Given the description of an element on the screen output the (x, y) to click on. 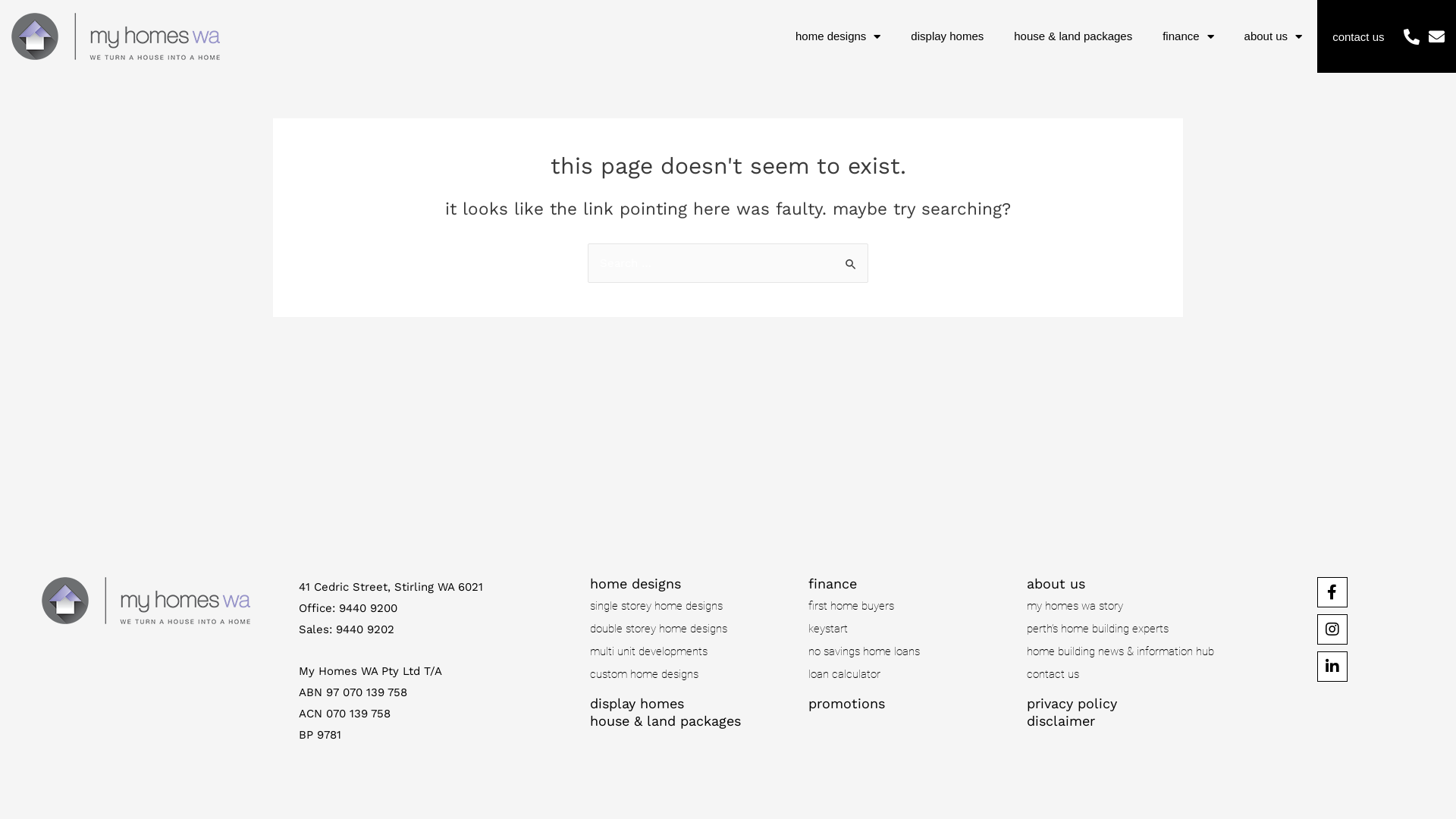
custom home designs Element type: text (691, 673)
loan calculator Element type: text (909, 673)
display homes Element type: text (636, 703)
disclaimer Element type: text (1060, 720)
house & land packages Element type: text (664, 720)
single storey home designs Element type: text (691, 605)
house & land packages Element type: text (1072, 35)
contact us Element type: text (1128, 673)
keystart Element type: text (909, 628)
privacy policy Element type: text (1071, 703)
home building news & information hub Element type: text (1128, 651)
Search Element type: text (851, 258)
first home buyers Element type: text (909, 605)
multi unit developments Element type: text (691, 651)
promotions Element type: text (846, 703)
double storey home designs Element type: text (691, 628)
finance Element type: text (1187, 35)
contact us Element type: text (1358, 36)
home designs Element type: text (837, 35)
my homes wa story Element type: text (1128, 605)
about us Element type: text (1273, 35)
no savings home loans Element type: text (909, 651)
display homes Element type: text (946, 35)
